Given the description of an element on the screen output the (x, y) to click on. 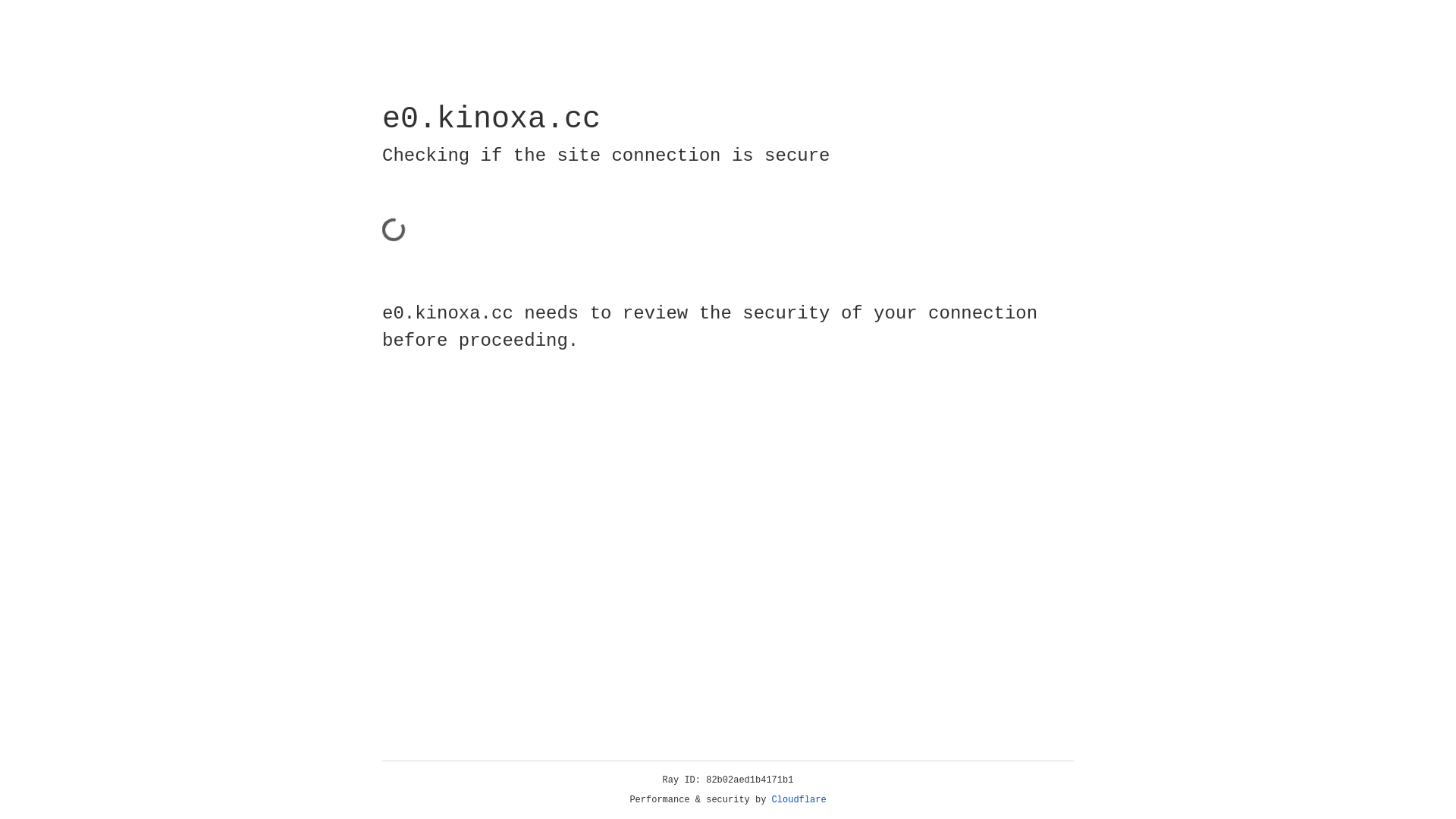
Cloudflare Element type: text (798, 799)
